Given the description of an element on the screen output the (x, y) to click on. 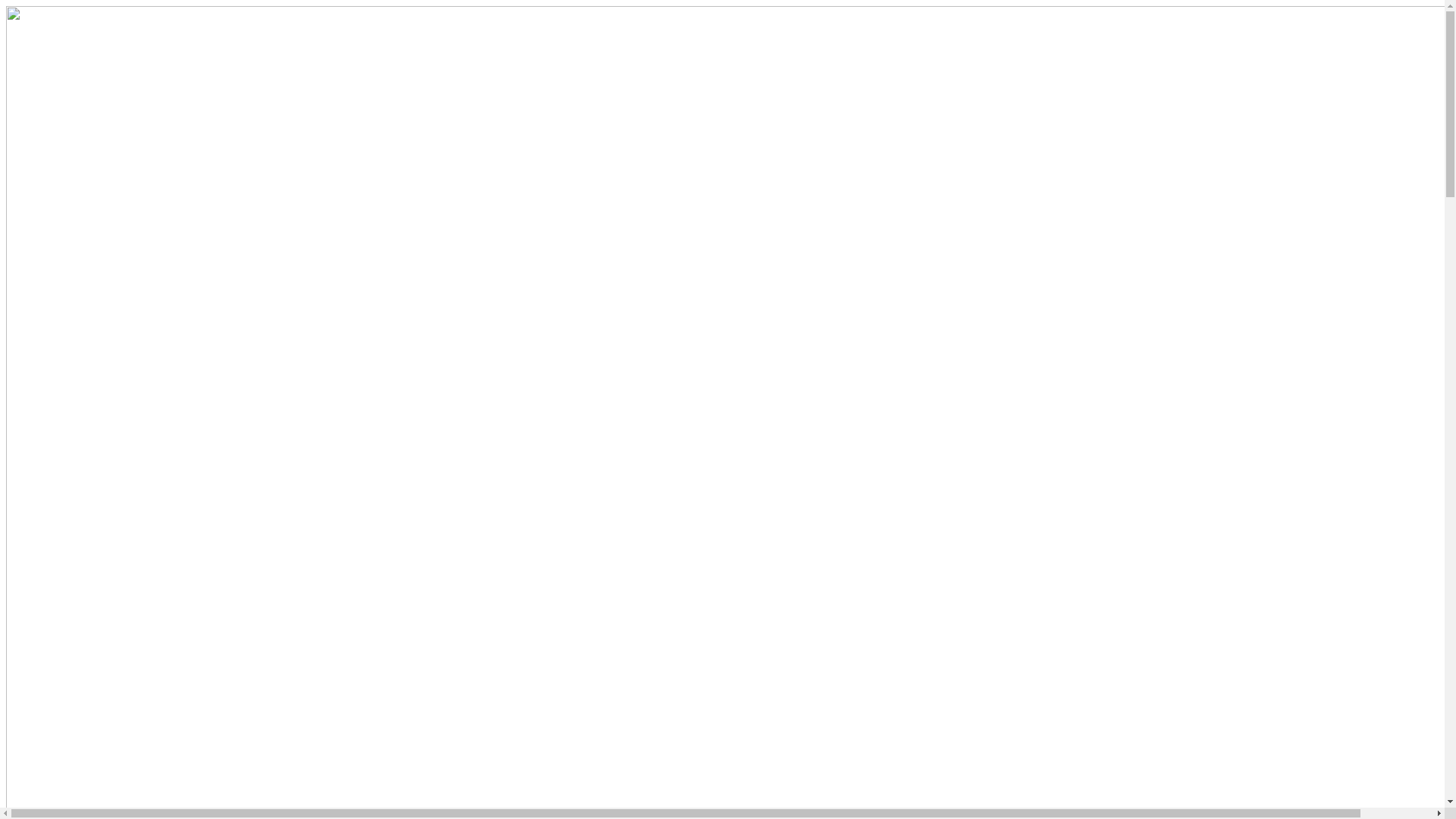
Skip to content Element type: text (5, 5)
